Given the description of an element on the screen output the (x, y) to click on. 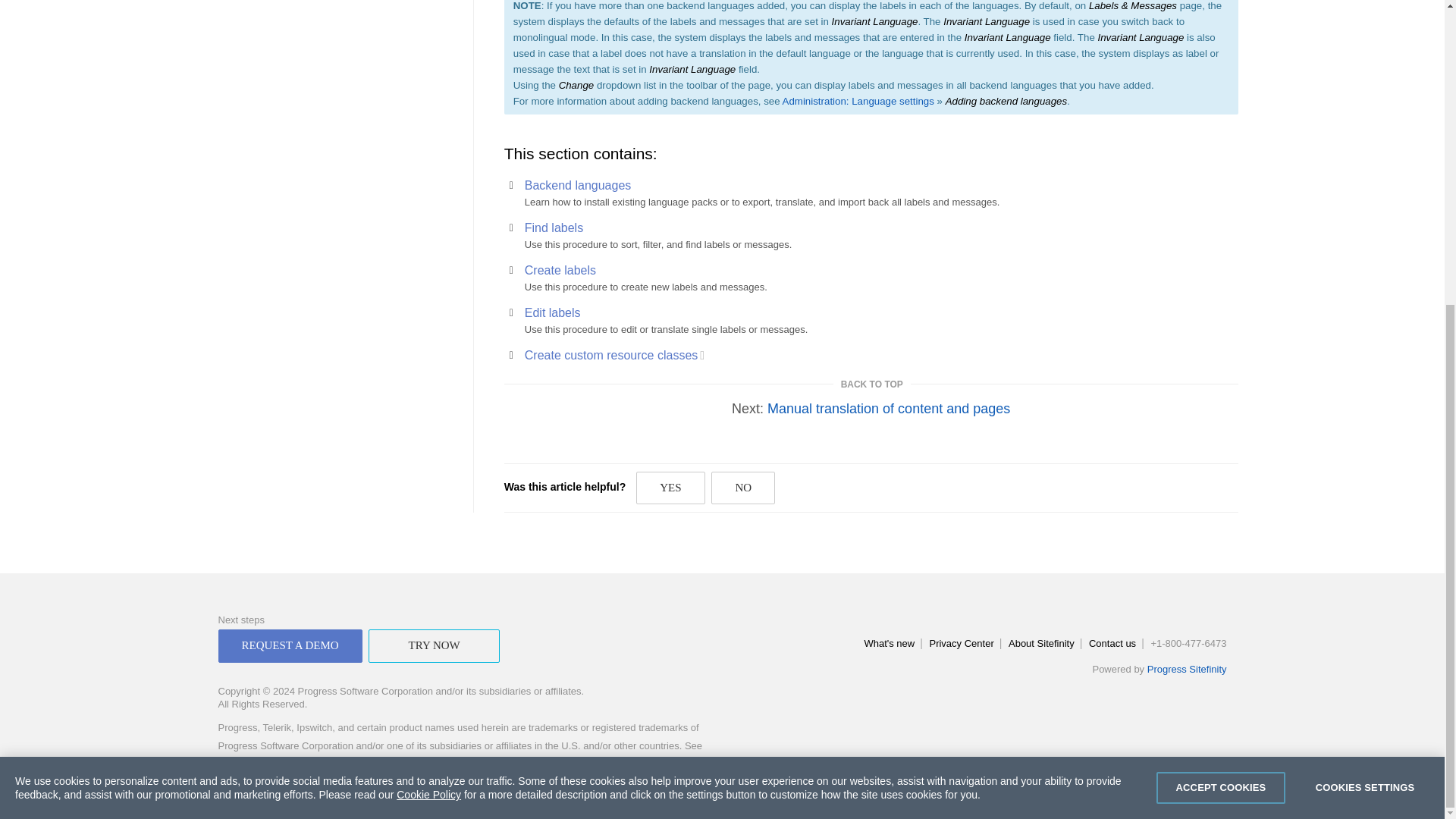
For developers (614, 354)
